Given the description of an element on the screen output the (x, y) to click on. 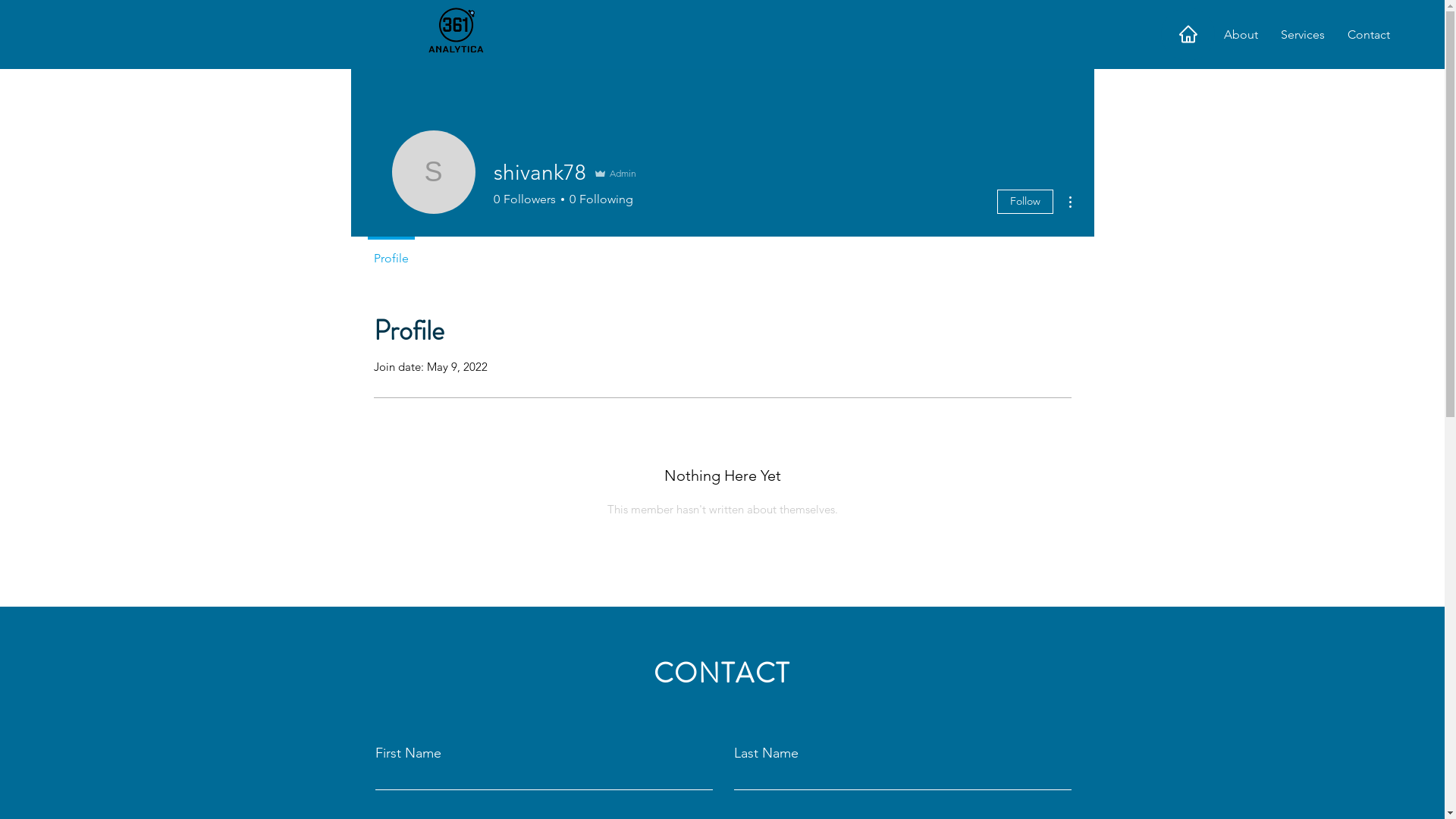
Contact Element type: text (1368, 34)
0
Followers Element type: text (523, 199)
Follow Element type: text (1024, 201)
0
Following Element type: text (598, 199)
TWIPLA (Visitor Analytics) Element type: hover (1442, 4)
Profile Element type: text (390, 251)
Services Element type: text (1302, 34)
About Element type: text (1240, 34)
